Given the description of an element on the screen output the (x, y) to click on. 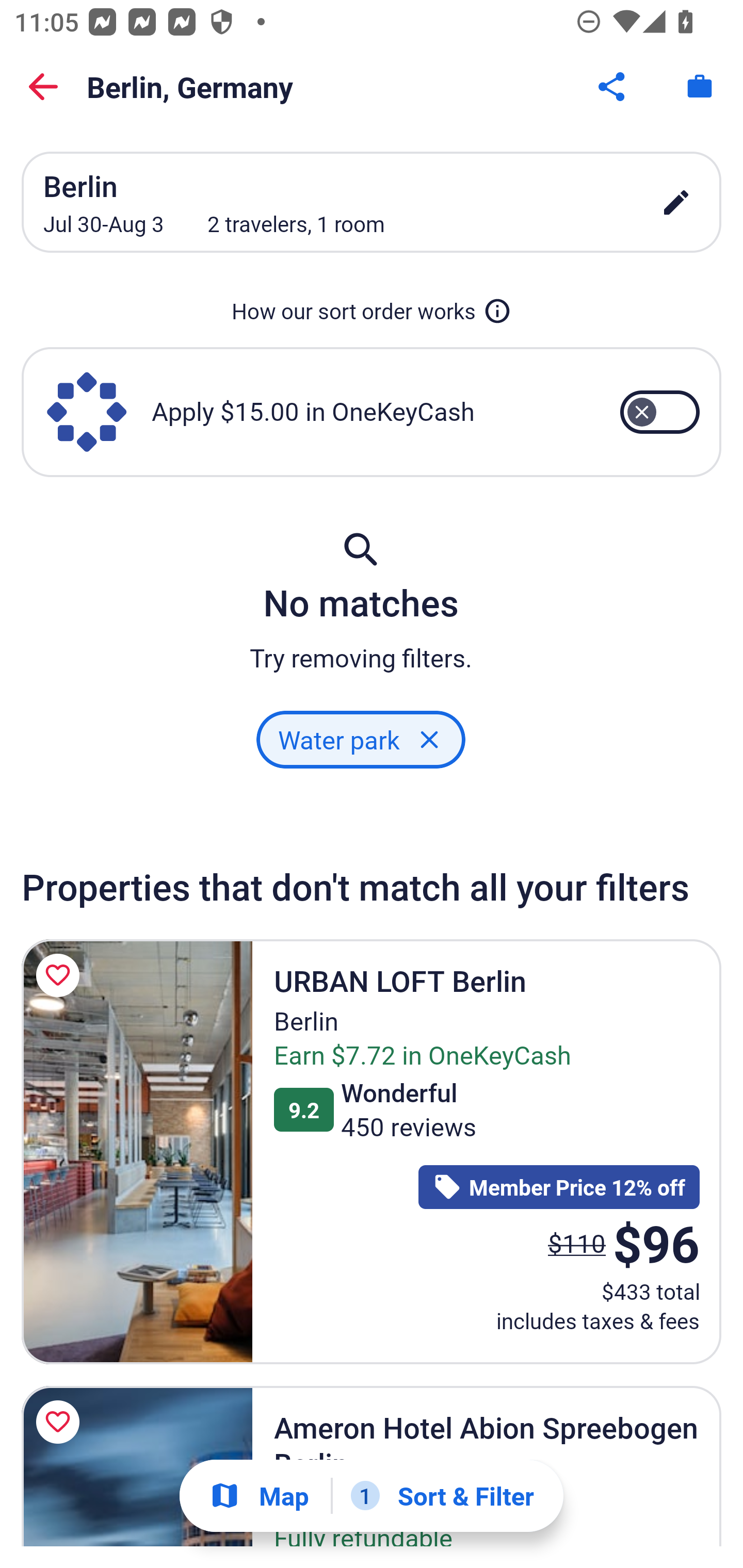
Back (43, 86)
Share Button (612, 86)
Trips. Button (699, 86)
Berlin Jul 30-Aug 3 2 travelers, 1 room edit (371, 202)
How our sort order works (371, 310)
WATER_PARK (360, 739)
Save URBAN LOFT Berlin to a trip (61, 975)
URBAN LOFT Berlin (136, 1151)
$110 The price was $110 (576, 1242)
1 Sort & Filter 1 Filter applied. Filters Button (442, 1495)
Show map Map Show map Button (258, 1495)
